Given the description of an element on the screen output the (x, y) to click on. 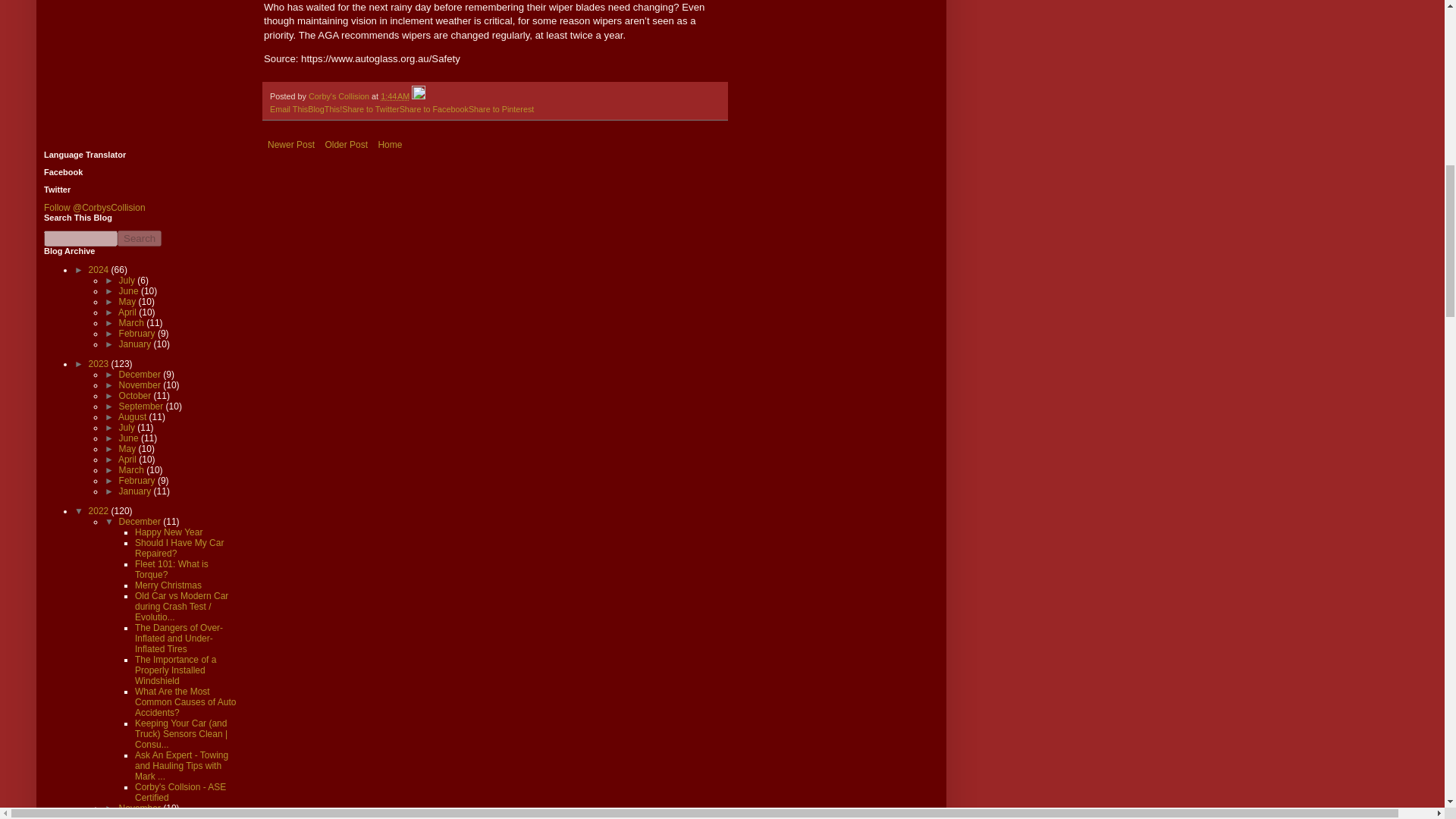
March (133, 322)
November (141, 385)
Search (139, 238)
search (80, 238)
Share to Twitter (370, 108)
July (128, 280)
Share to Pinterest (501, 108)
Edit Post (418, 95)
permanent link (394, 95)
Search (139, 238)
February (138, 333)
Older Post (345, 144)
December (141, 374)
Share to Facebook (433, 108)
2024 (100, 269)
